Given the description of an element on the screen output the (x, y) to click on. 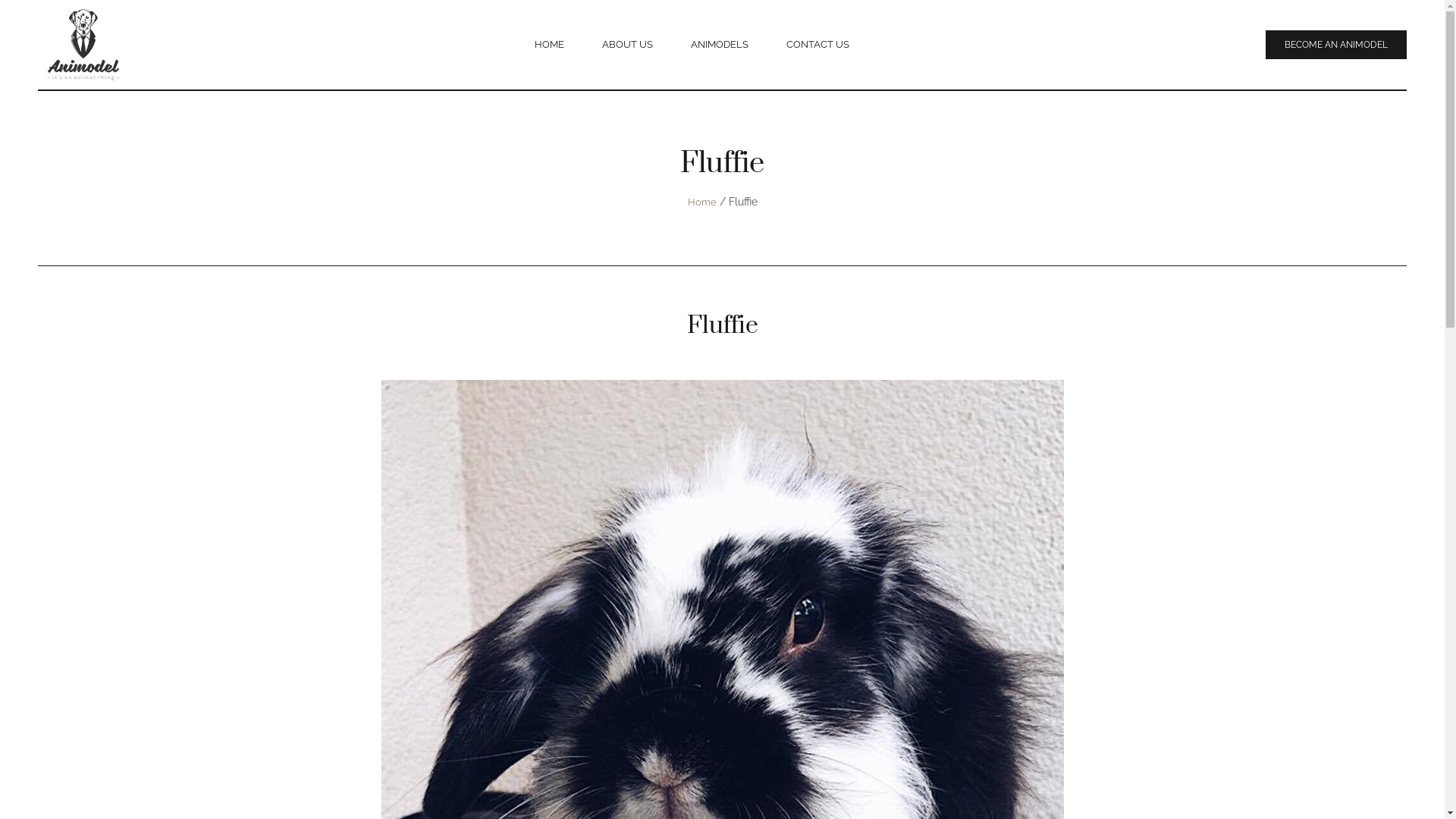
HOME Element type: text (549, 44)
BECOME AN ANIMODEL Element type: text (1335, 44)
Home Element type: text (701, 201)
CONTACT US Element type: text (817, 44)
ABOUT US Element type: text (626, 44)
ANIMODELS Element type: text (719, 44)
